Given the description of an element on the screen output the (x, y) to click on. 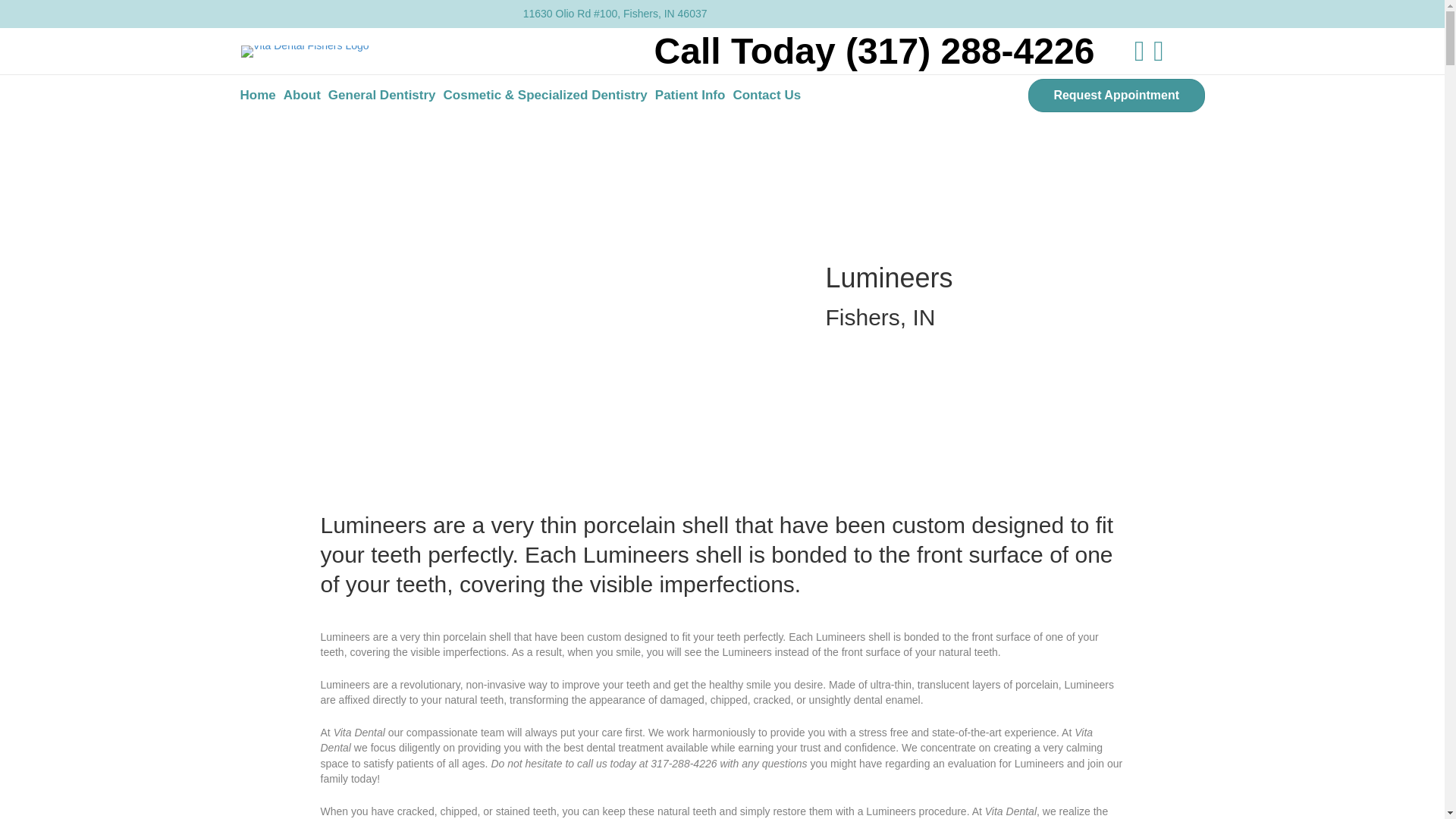
Vita Dental Fishers Indiana (305, 51)
Patient Info (689, 95)
About (301, 95)
v-counter (471, 297)
General Dentistry (381, 95)
Home (257, 95)
